Given the description of an element on the screen output the (x, y) to click on. 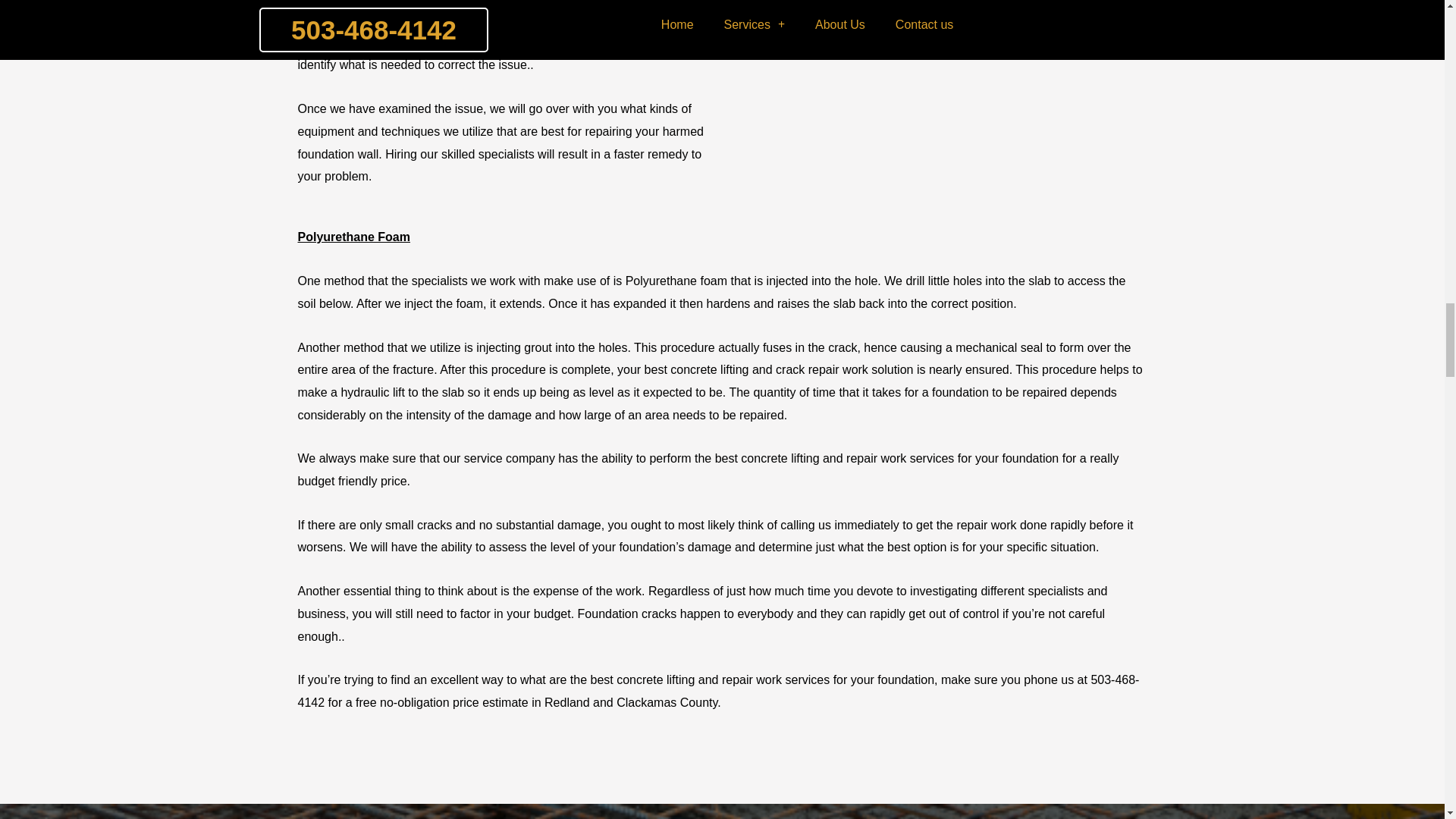
house leveling (646, 19)
